Given the description of an element on the screen output the (x, y) to click on. 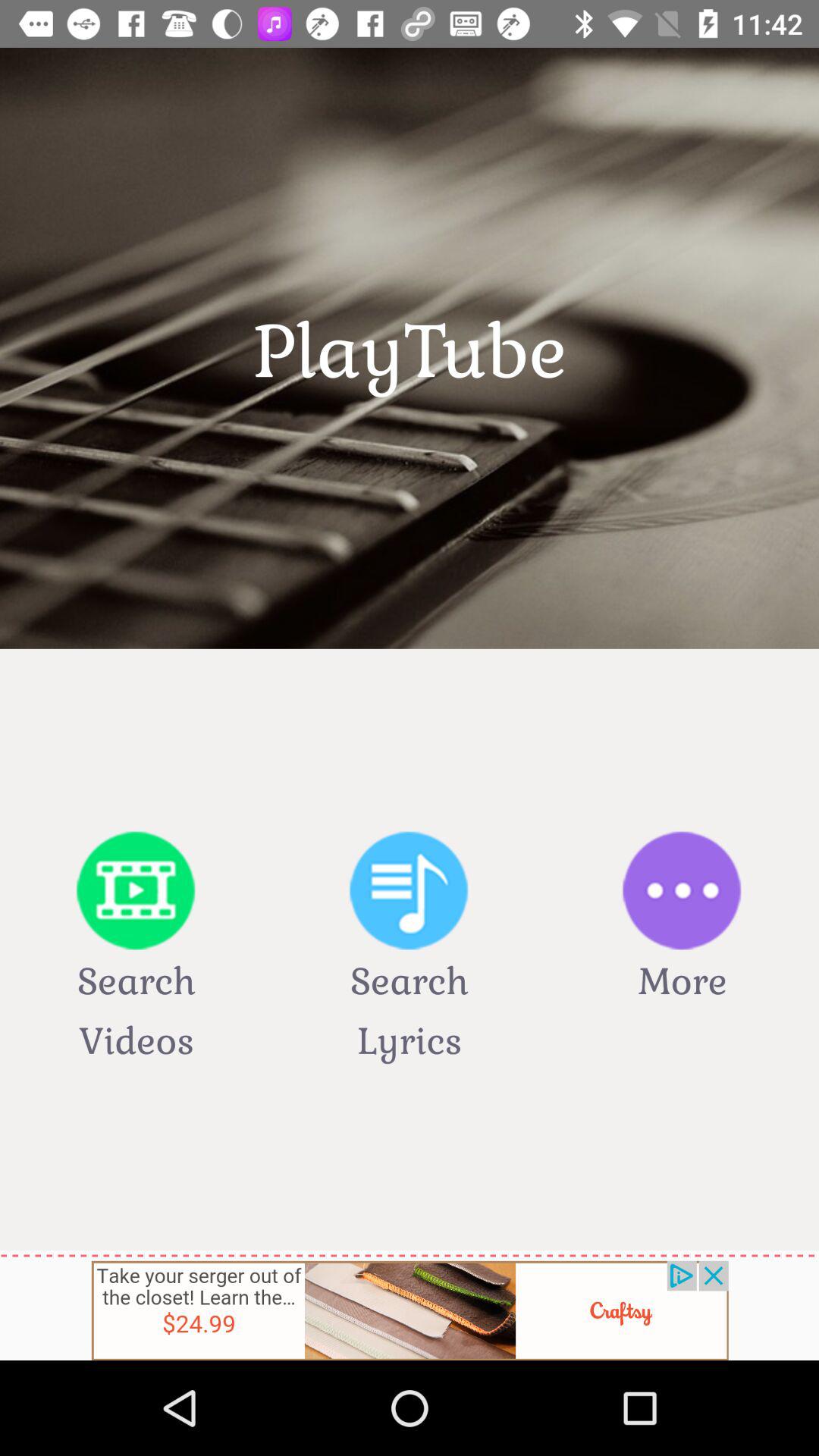
click advertisement (409, 1310)
